Given the description of an element on the screen output the (x, y) to click on. 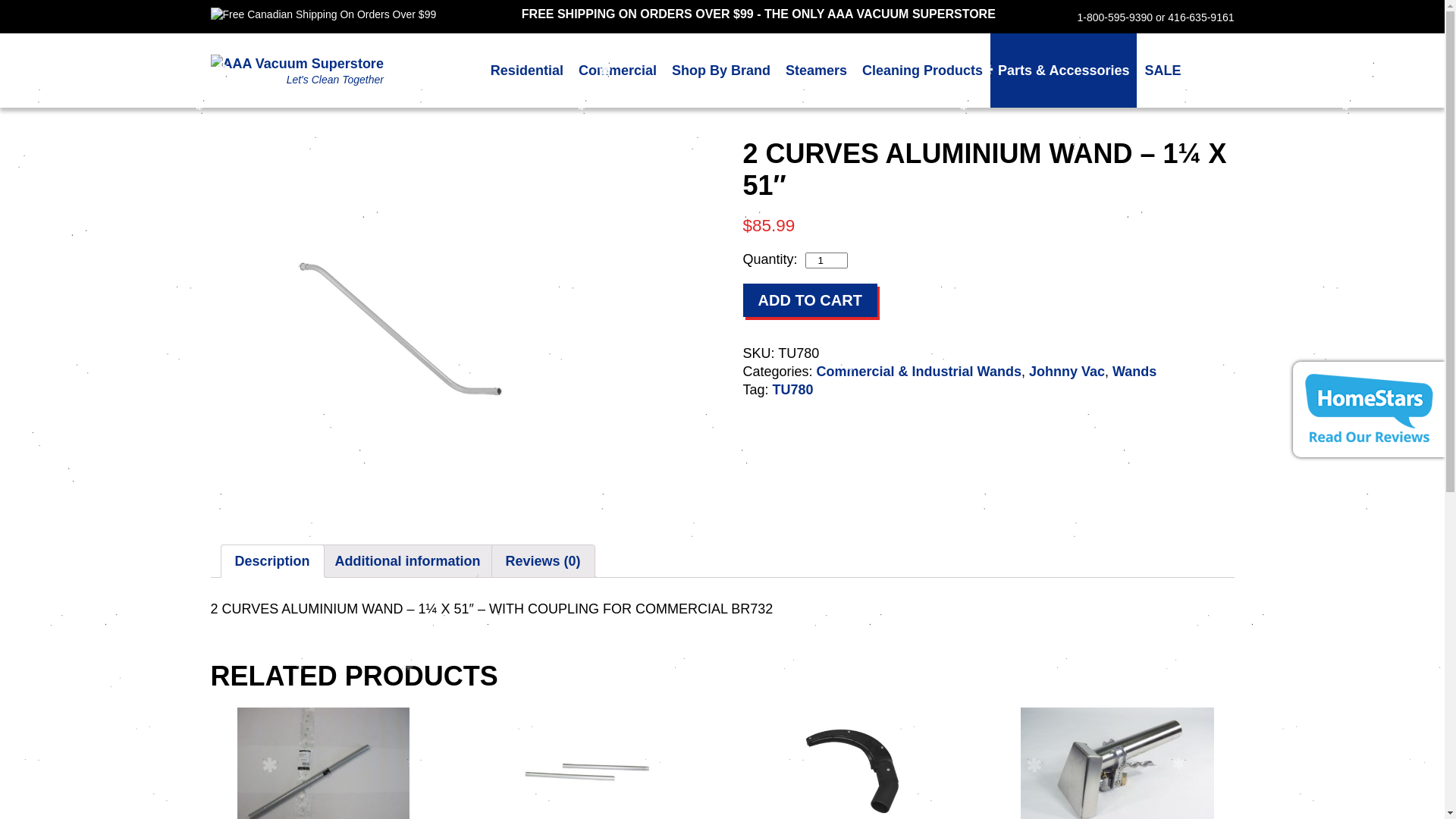
Cleaning Products Element type: text (922, 70)
1-800-595-9390 Element type: text (1114, 17)
TU780 Element type: text (792, 389)
Commercial & Industrial Wands Element type: text (918, 371)
Commercial Element type: text (617, 70)
Additional information Element type: text (407, 561)
416-635-9161 Element type: text (1200, 17)
Steamers Element type: text (816, 70)
Qty Element type: hover (826, 260)
Shop By Brand Element type: text (721, 70)
Wands Element type: text (1134, 371)
Parts & Accessories Element type: text (1063, 70)
Johnny Vac Element type: text (1066, 371)
Reviews (0) Element type: text (542, 561)
SALE Element type: text (1162, 70)
Free Canadian Shipping On Orders Over $99 Element type: hover (323, 14)
ADD TO CART Element type: text (810, 299)
Let's Clean Together Element type: text (296, 70)
Description Element type: text (272, 561)
Residential Element type: text (527, 70)
